Given the description of an element on the screen output the (x, y) to click on. 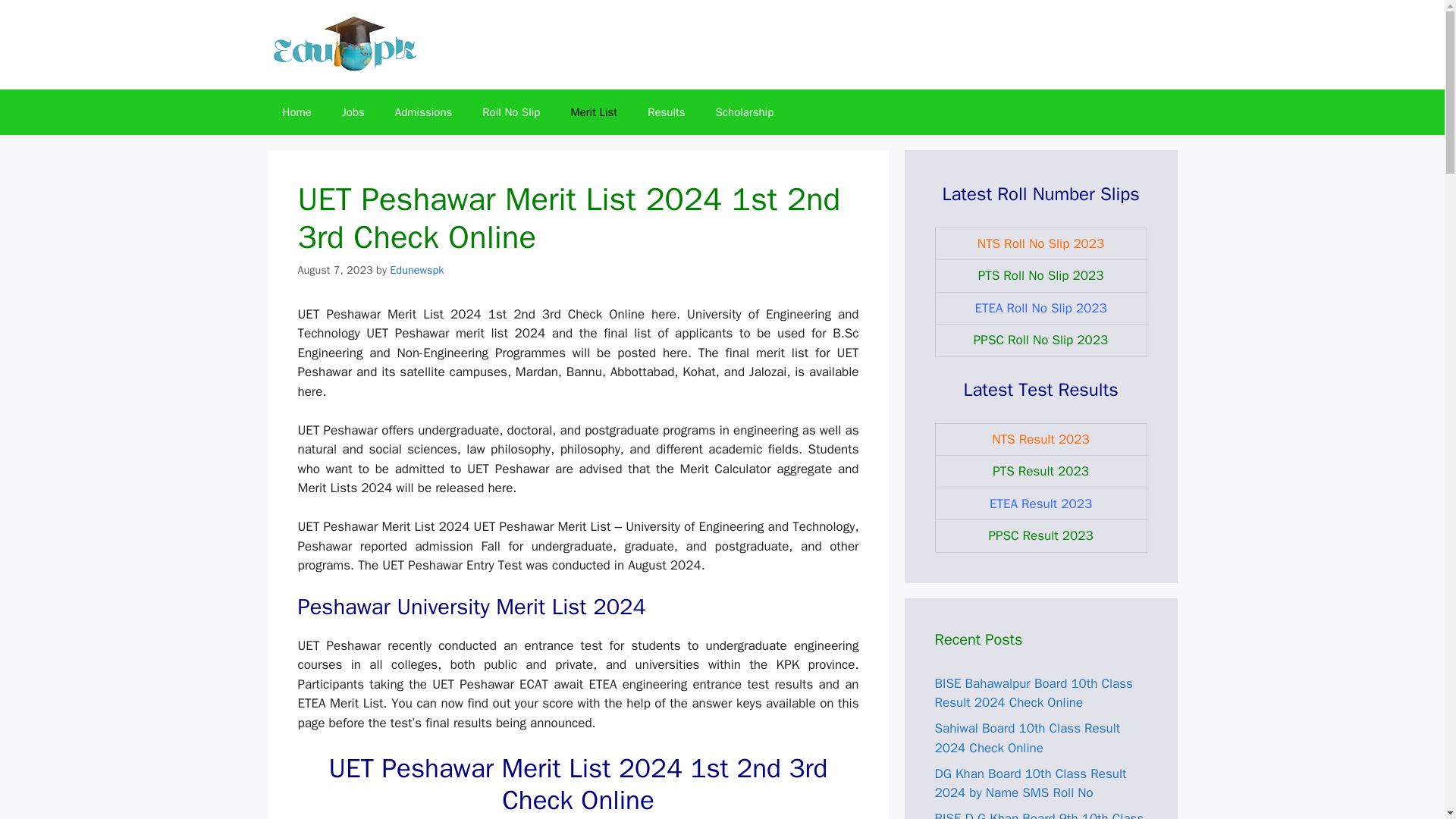
Jobs (353, 112)
Admissions (423, 112)
View all posts by Edunewspk (417, 269)
Edunewspk (417, 269)
Results (665, 112)
Home (296, 112)
PTS Roll No Slip 2023 (1040, 275)
Scholarship (744, 112)
NTS Roll No Slip 2023 (1039, 242)
NTS Result 2023 (1040, 438)
Merit List (592, 112)
Roll No Slip (510, 112)
PPSC Roll No Slip 2023 (1041, 340)
ETEA Roll No Slip 2023 (1040, 308)
